Given the description of an element on the screen output the (x, y) to click on. 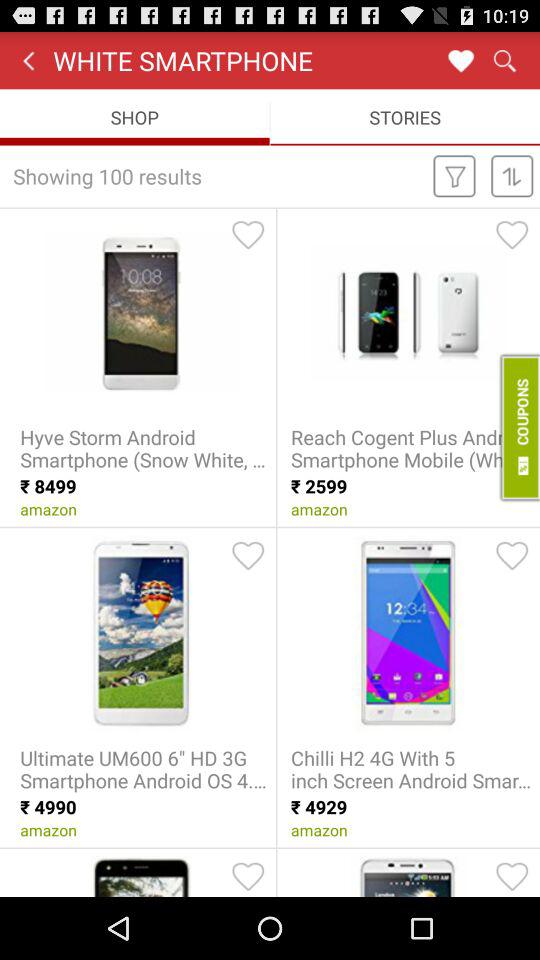
like the model (512, 876)
